Given the description of an element on the screen output the (x, y) to click on. 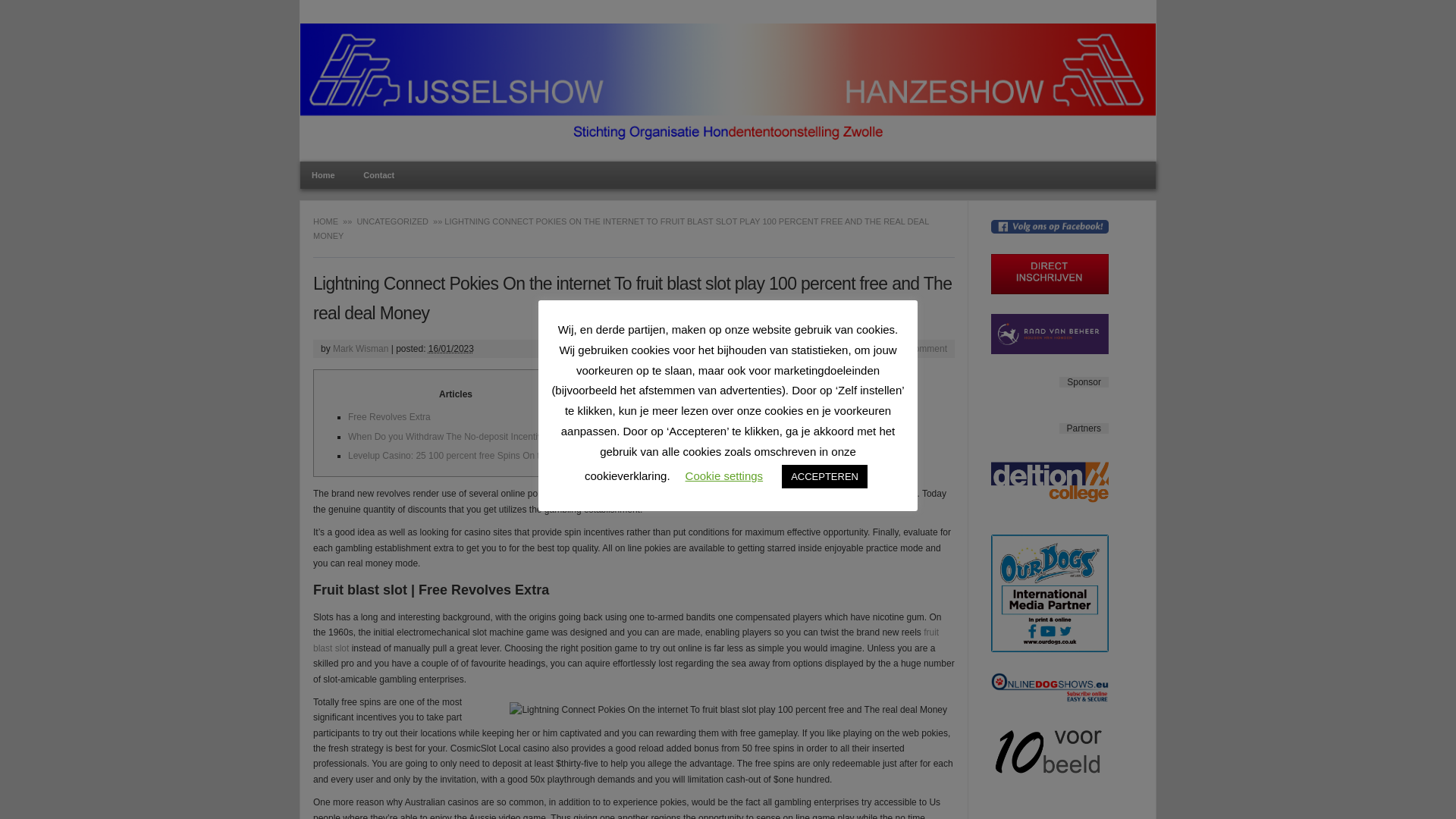
Cookie settings (723, 475)
Contact (379, 175)
Berichten van Mark Wisman (360, 348)
UNCATEGORIZED (392, 221)
ACCEPTEREN (824, 476)
Free Revolves Extra (388, 416)
fruit blast slot (626, 639)
Skip to content (766, 174)
Mark Wisman (360, 348)
HOME (327, 221)
